Given the description of an element on the screen output the (x, y) to click on. 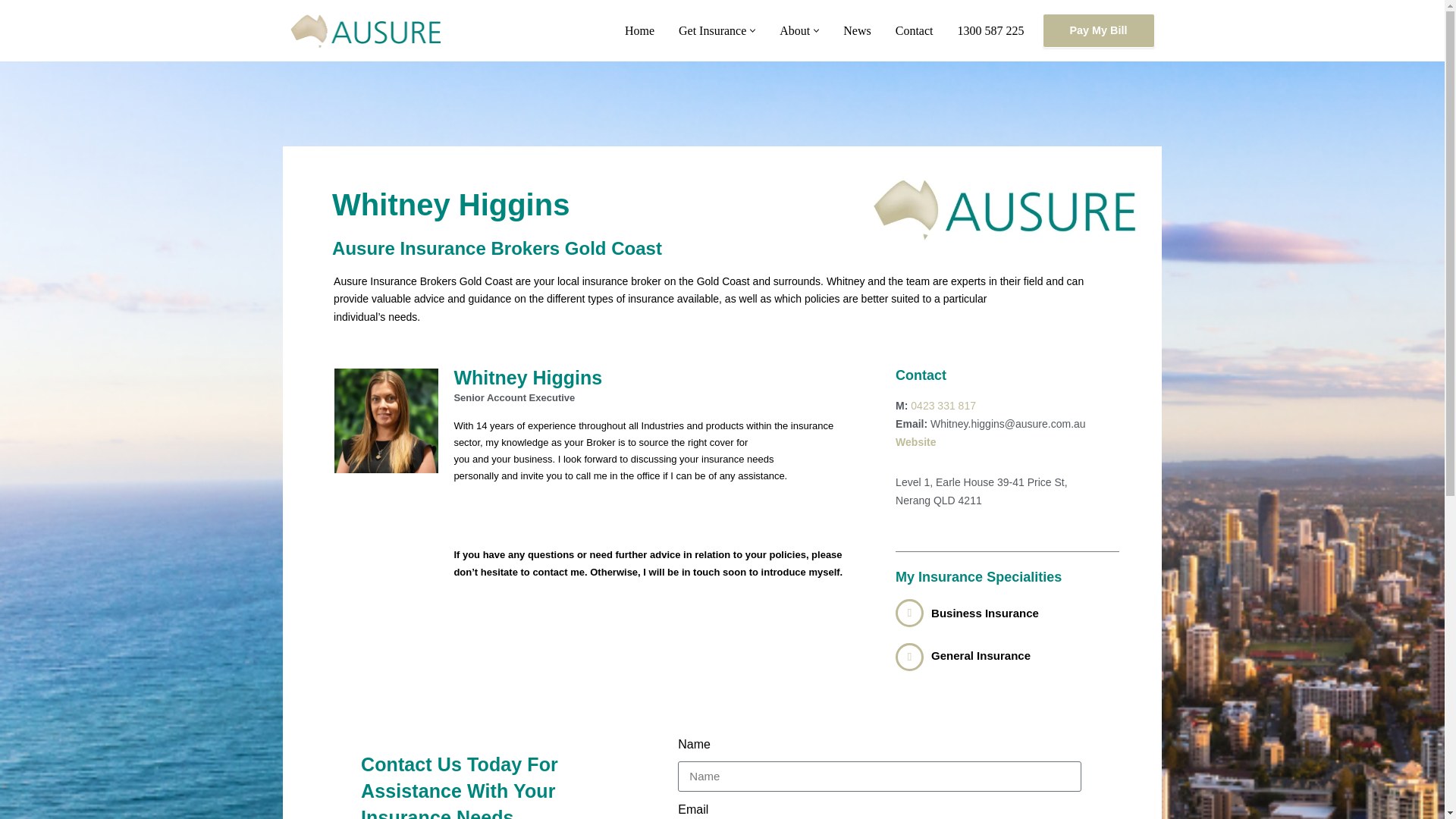
1300 587 225 (991, 30)
News (856, 30)
Pay My Bill (1098, 30)
Skip to content (11, 31)
Home (638, 30)
Get Insurance (711, 30)
Contact (914, 30)
About (793, 30)
